Given the description of an element on the screen output the (x, y) to click on. 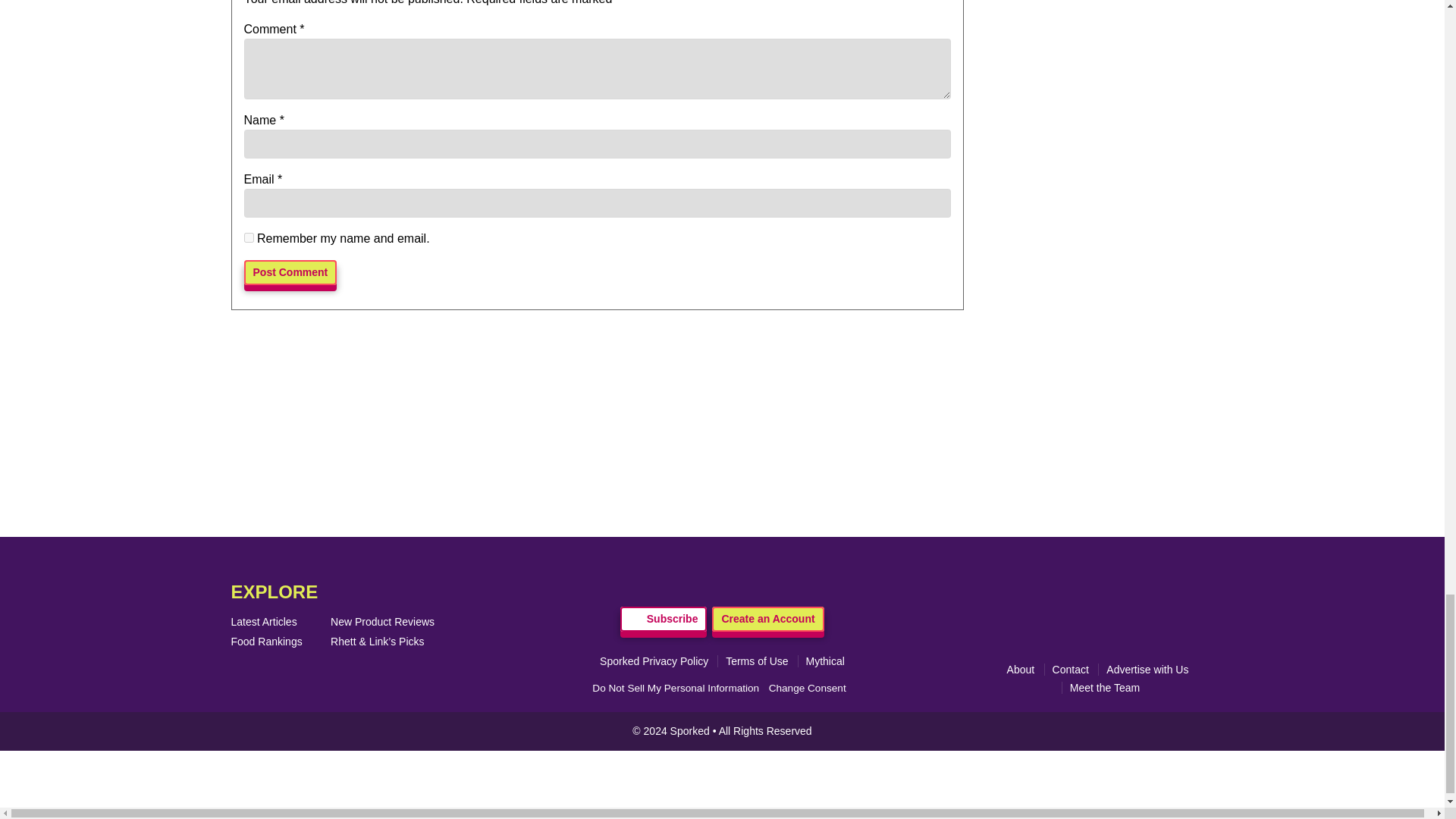
Sporked (691, 730)
yes (248, 237)
Post Comment (290, 272)
